Given the description of an element on the screen output the (x, y) to click on. 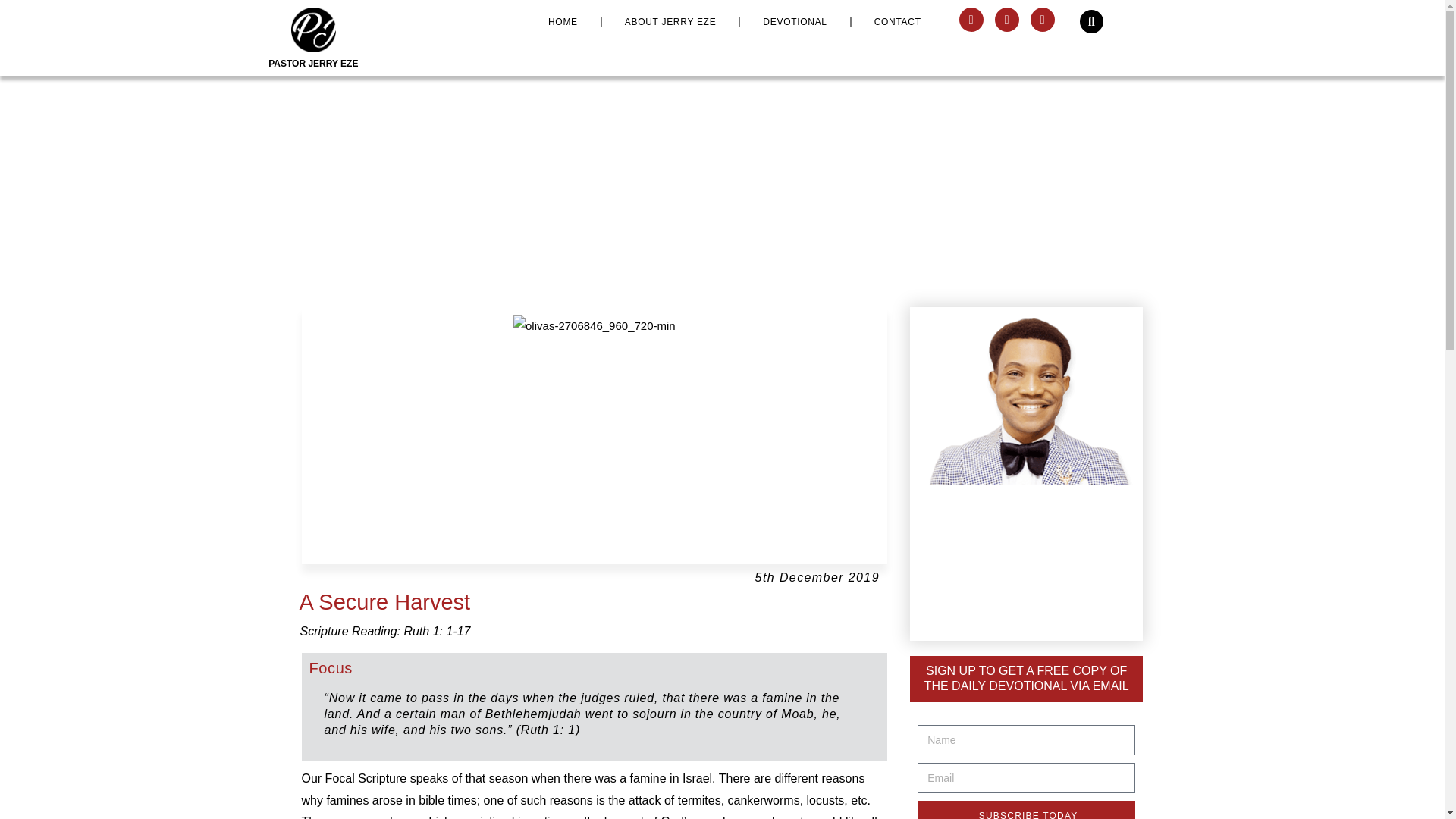
PASTOR JERRY EZE (312, 63)
ABOUT JERRY EZE (670, 21)
DEVOTIONAL (793, 21)
CONTACT (897, 21)
HOME (562, 21)
